Given the description of an element on the screen output the (x, y) to click on. 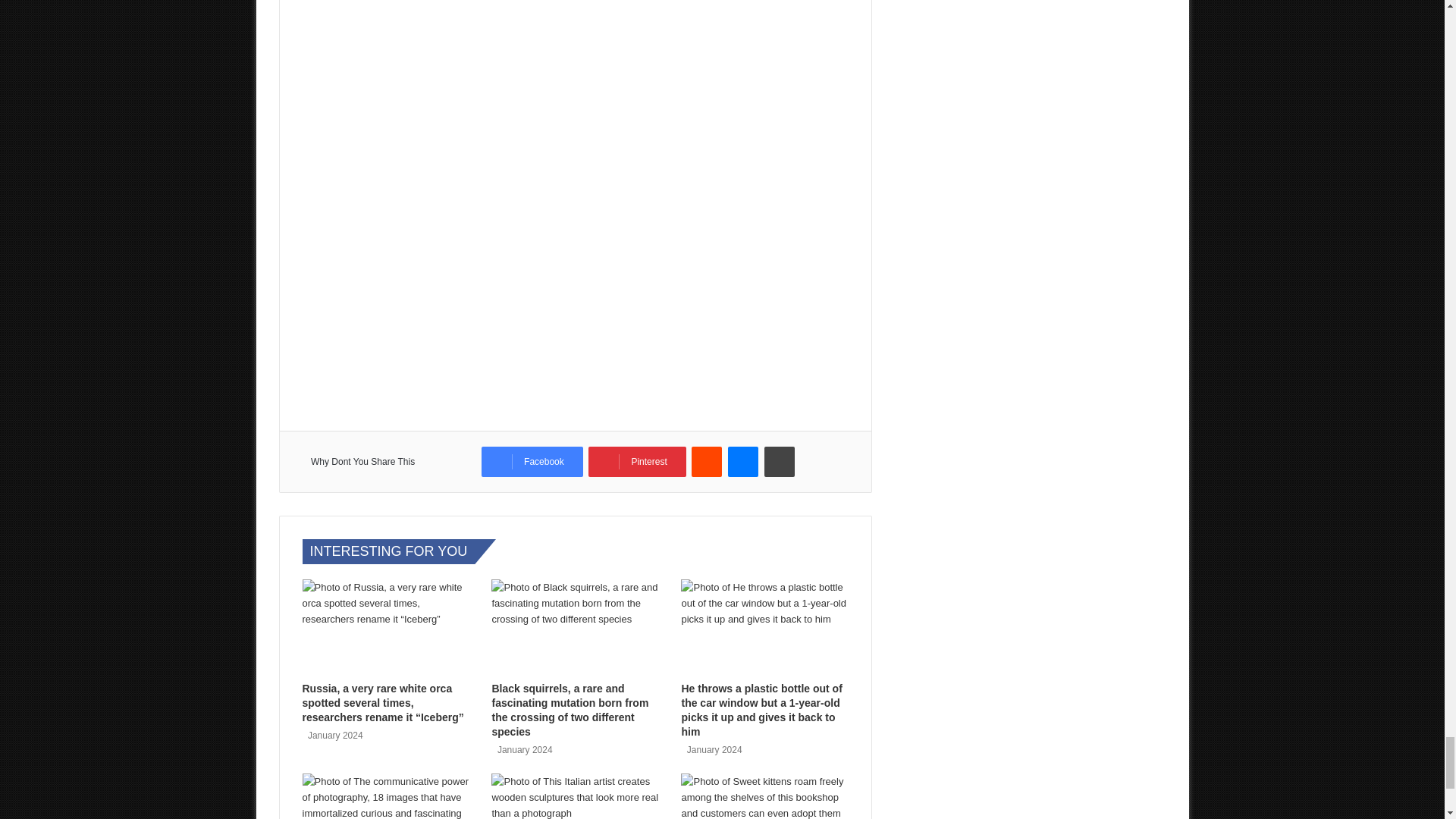
Messenger (743, 461)
Pinterest (636, 461)
Facebook (532, 461)
Print (779, 461)
Messenger (743, 461)
Reddit (706, 461)
Facebook (532, 461)
Reddit (706, 461)
Pinterest (636, 461)
